Given the description of an element on the screen output the (x, y) to click on. 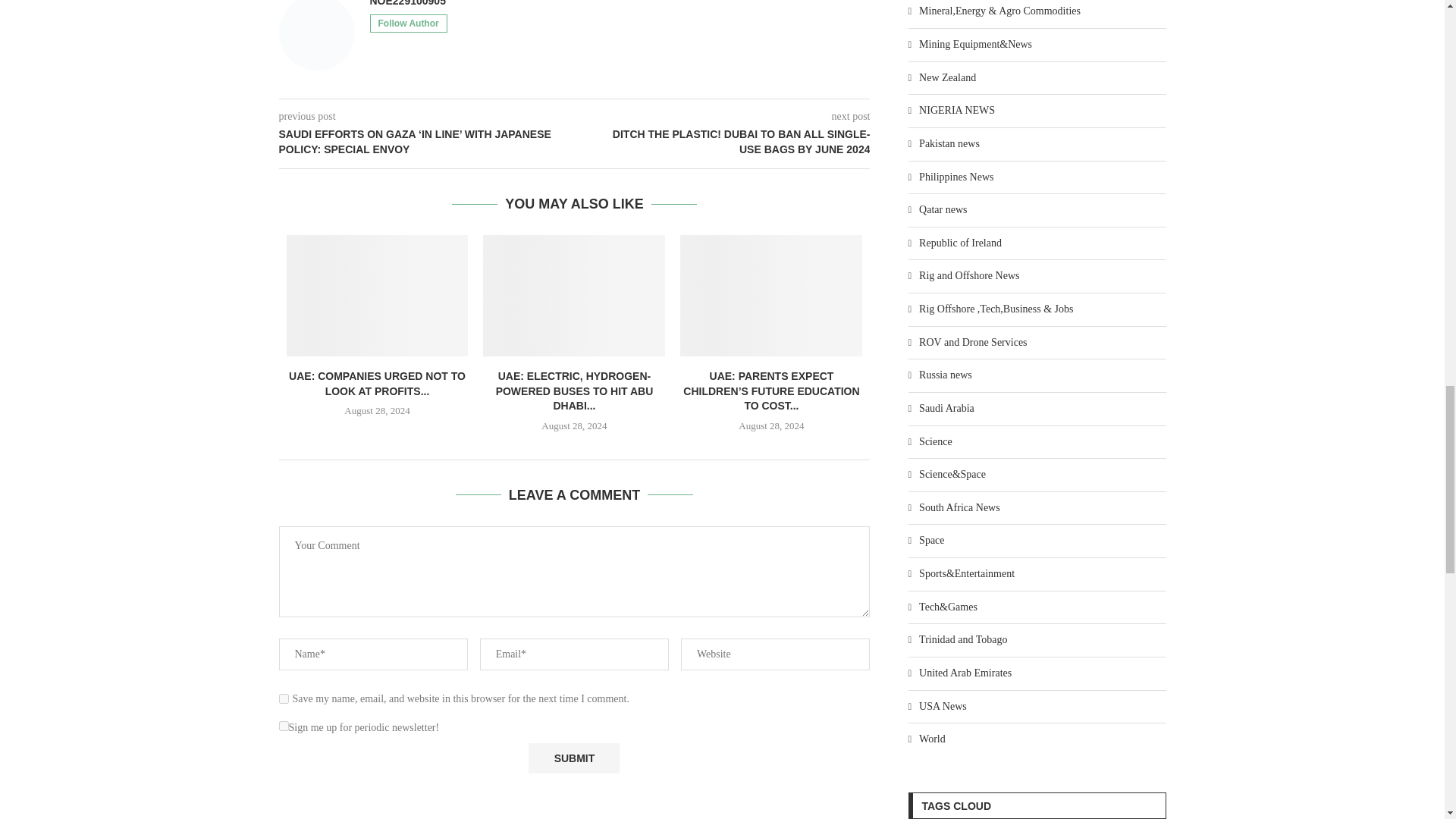
yes (283, 698)
Author noe229100905 (407, 3)
Submit (574, 757)
1 (283, 725)
